Given the description of an element on the screen output the (x, y) to click on. 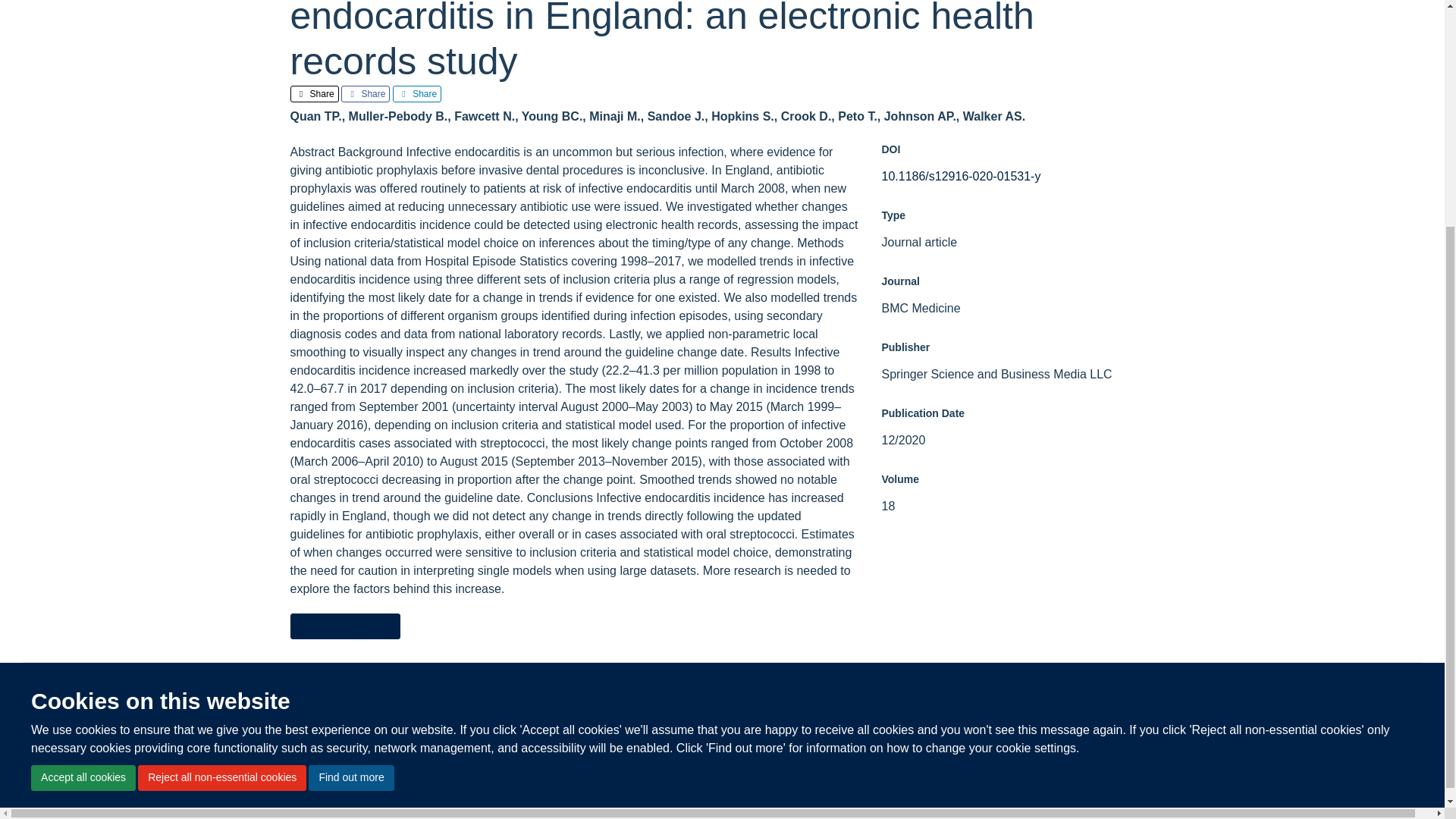
Find out more (350, 467)
Reject all non-essential cookies (221, 467)
Accept all cookies (82, 467)
